Given the description of an element on the screen output the (x, y) to click on. 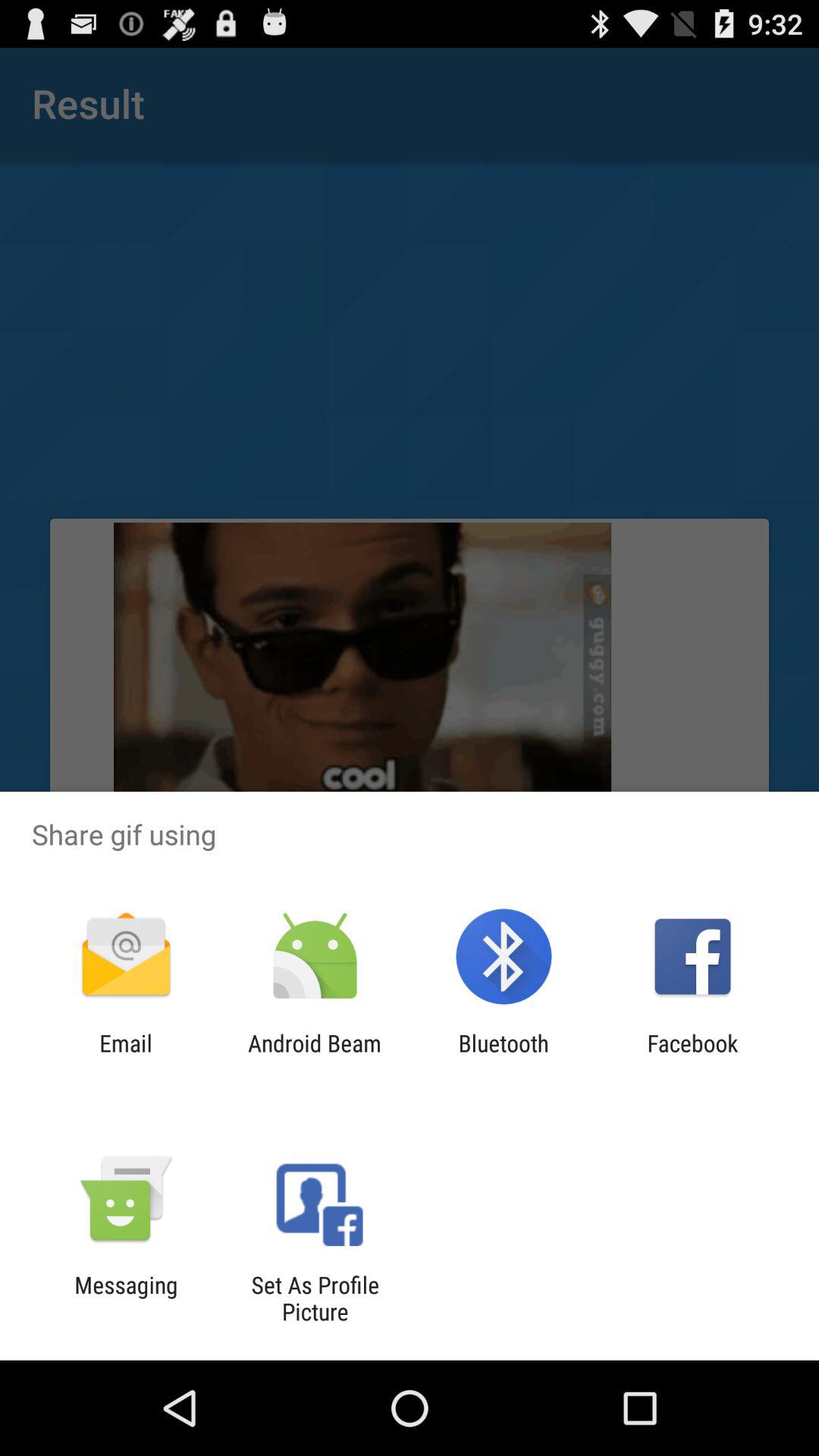
turn off icon next to messaging icon (314, 1298)
